Given the description of an element on the screen output the (x, y) to click on. 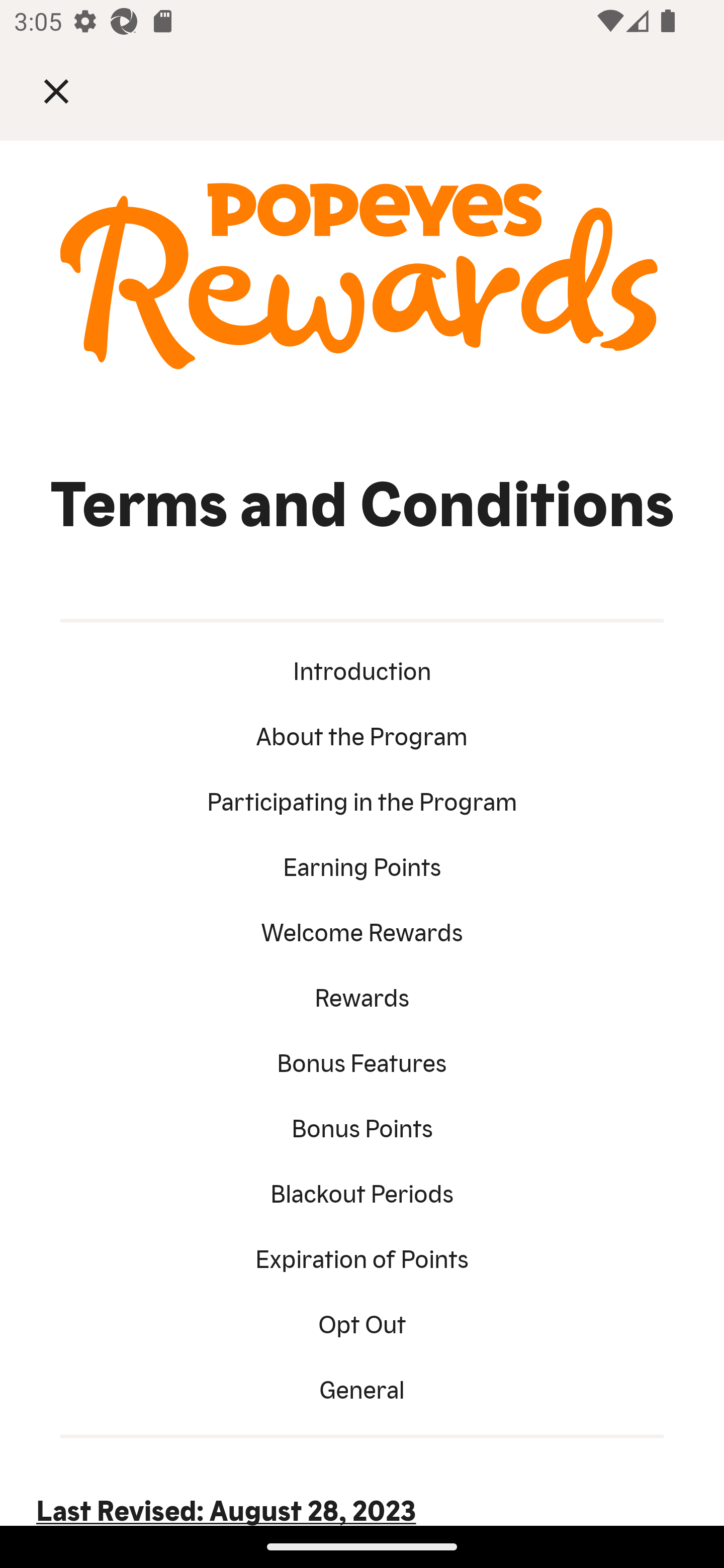
 (70, 90)
Introduction (362, 669)
About the Program (361, 734)
Participating in the Program (362, 799)
Earning Points (362, 865)
Welcome Rewards (361, 930)
Rewards (361, 995)
Bonus Features (361, 1061)
Bonus Points (361, 1126)
Blackout Periods (361, 1191)
Expiration of Points (361, 1257)
Opt Out (362, 1322)
General (361, 1387)
